Given the description of an element on the screen output the (x, y) to click on. 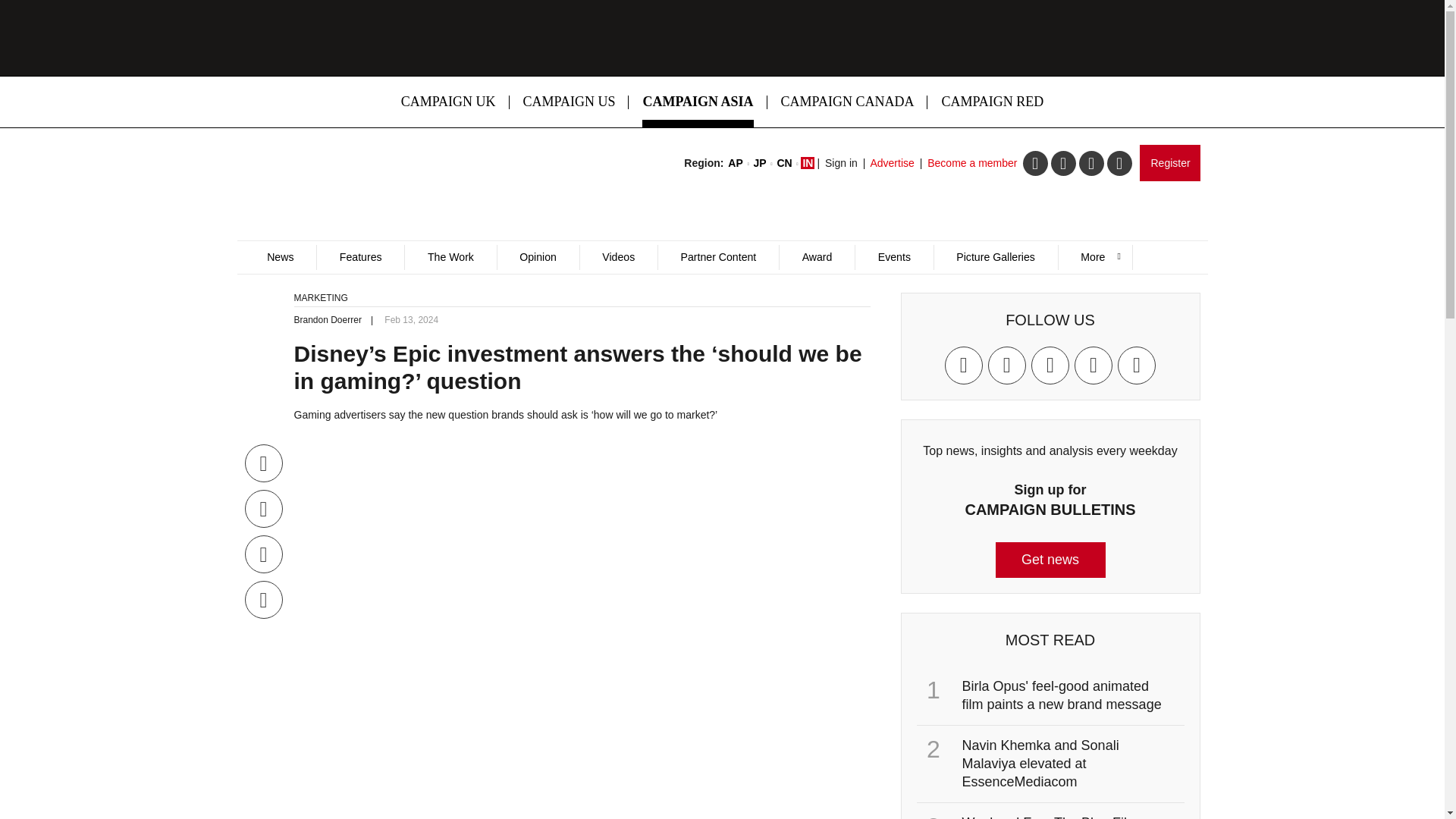
CAMPAIGN CANADA (847, 101)
Events (893, 257)
News (279, 257)
Advertise (891, 162)
Features (359, 257)
IN (806, 162)
Sign in (841, 162)
Picture Galleries (995, 257)
Opinion (537, 257)
Award (816, 257)
CAMPAIGN RED (992, 101)
Events (893, 257)
The Work (450, 257)
The Work (450, 257)
Sign in (841, 162)
